Given the description of an element on the screen output the (x, y) to click on. 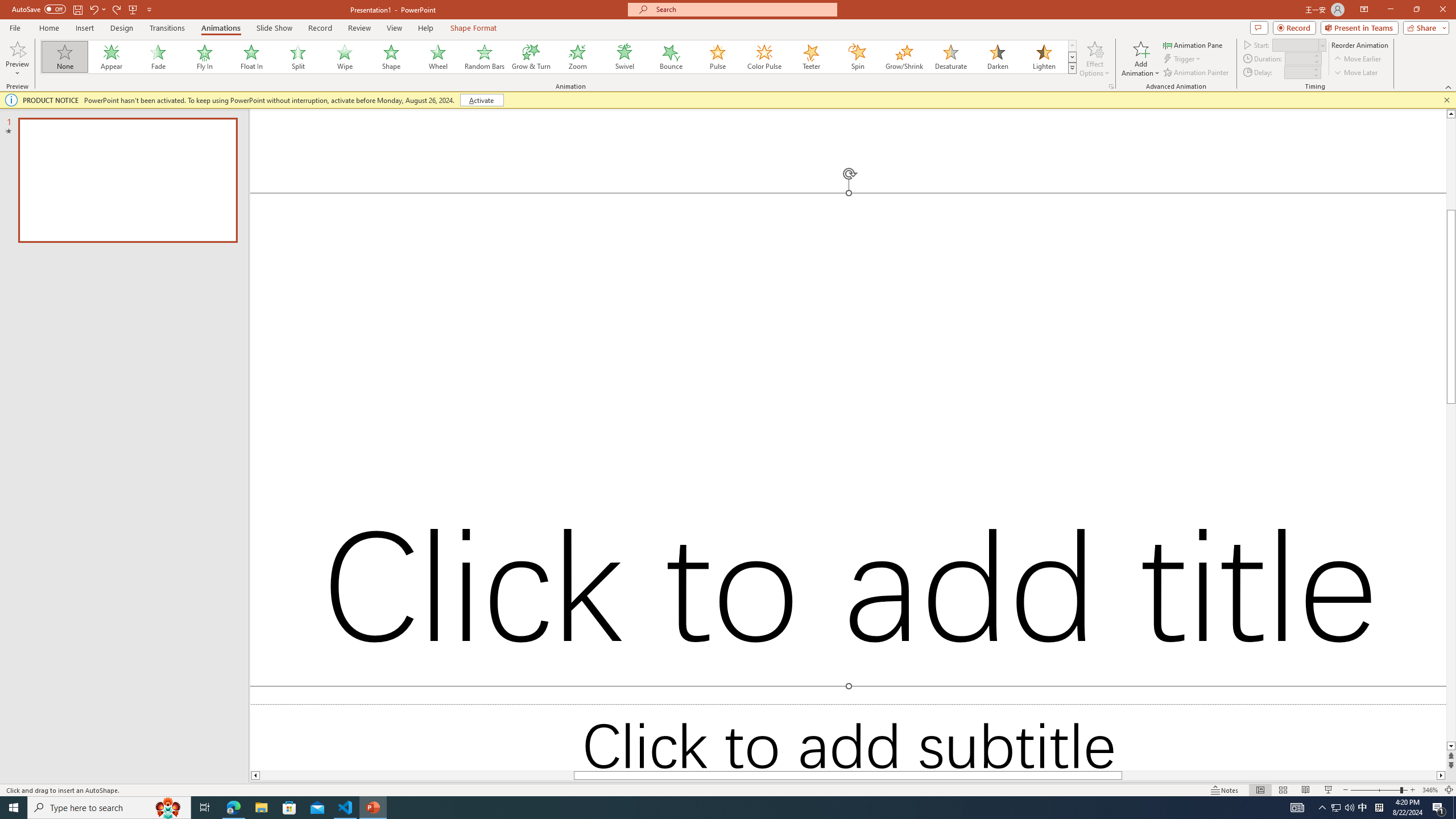
Desaturate (950, 56)
